Given the description of an element on the screen output the (x, y) to click on. 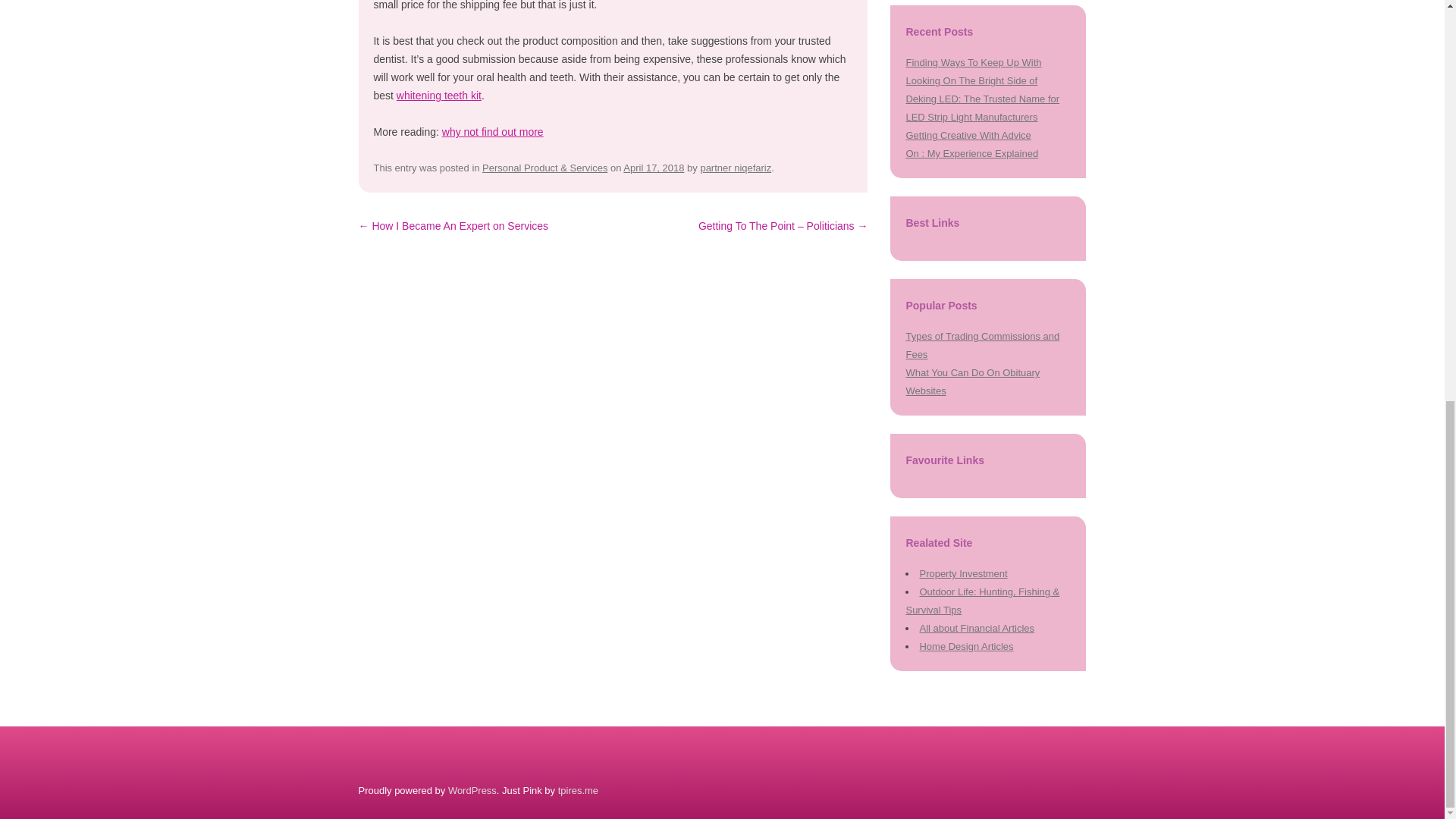
Finding Ways To Keep Up With (973, 61)
What You Can Do On Obituary Websites (972, 381)
Looking On The Bright Side of (970, 80)
Semantic Personal Publishing Platform (472, 790)
whitening teeth kit (438, 95)
April 17, 2018 (653, 167)
8:37 am (653, 167)
Types of Trading Commissions and Fees (982, 345)
View all posts by partner niqefariz (735, 167)
why not find out more (492, 132)
